Given the description of an element on the screen output the (x, y) to click on. 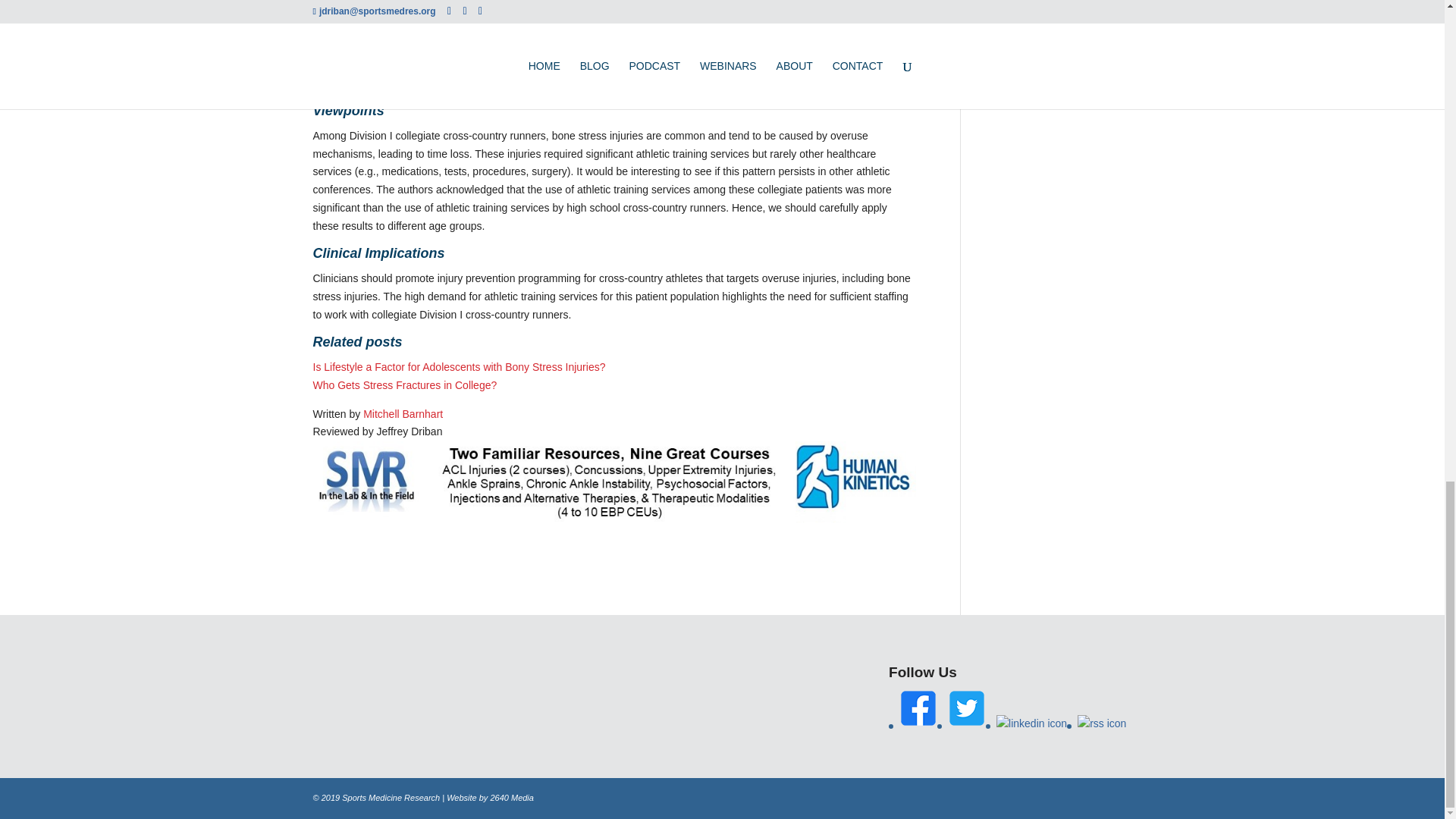
2640 Media (511, 797)
Mitchell Barnhart (402, 413)
Who Gets Stress Fractures in College? (404, 385)
